Given the description of an element on the screen output the (x, y) to click on. 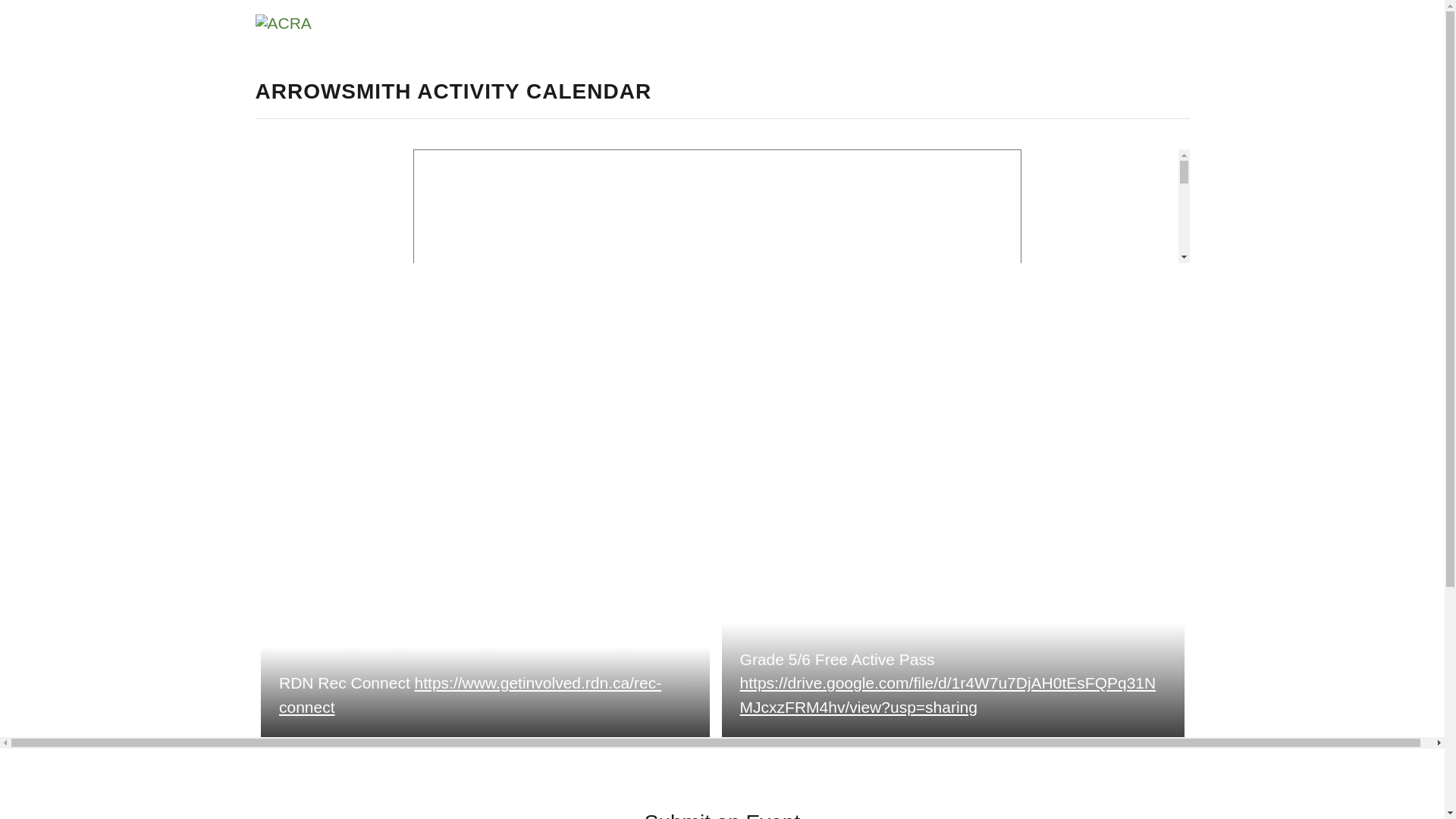
https://www.getinvolved.rdn.ca/rec-connect Element type: text (470, 694)
ACRA Element type: hover (282, 22)
